Given the description of an element on the screen output the (x, y) to click on. 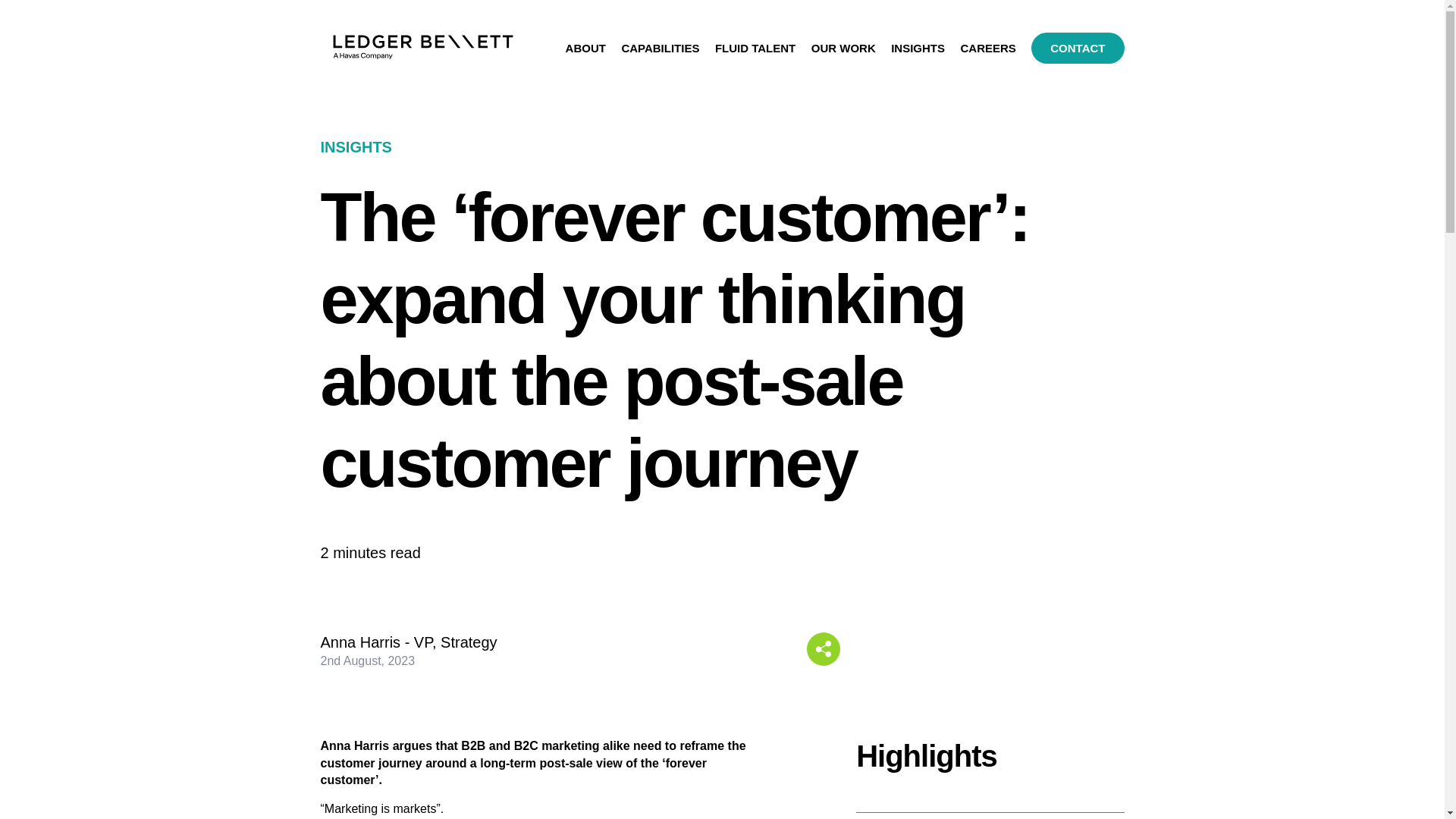
OUR WORK (843, 53)
CAREERS (986, 53)
CONTACT (1077, 47)
FLUID TALENT (754, 53)
INSIGHTS (917, 53)
CAPABILITIES (659, 53)
ABOUT (585, 53)
